Given the description of an element on the screen output the (x, y) to click on. 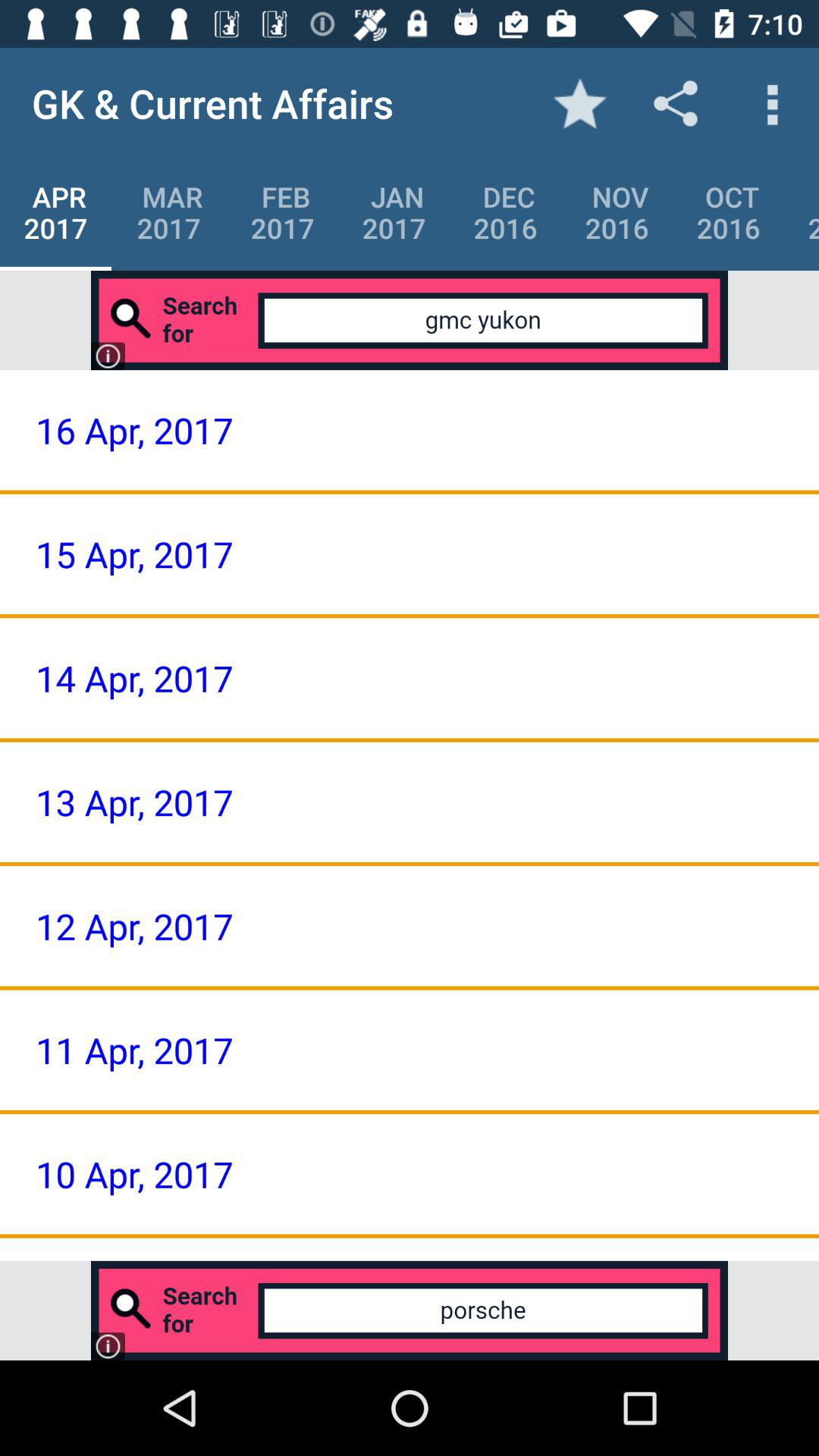
turn on the icon next to the  nov
2016 (505, 212)
